Given the description of an element on the screen output the (x, y) to click on. 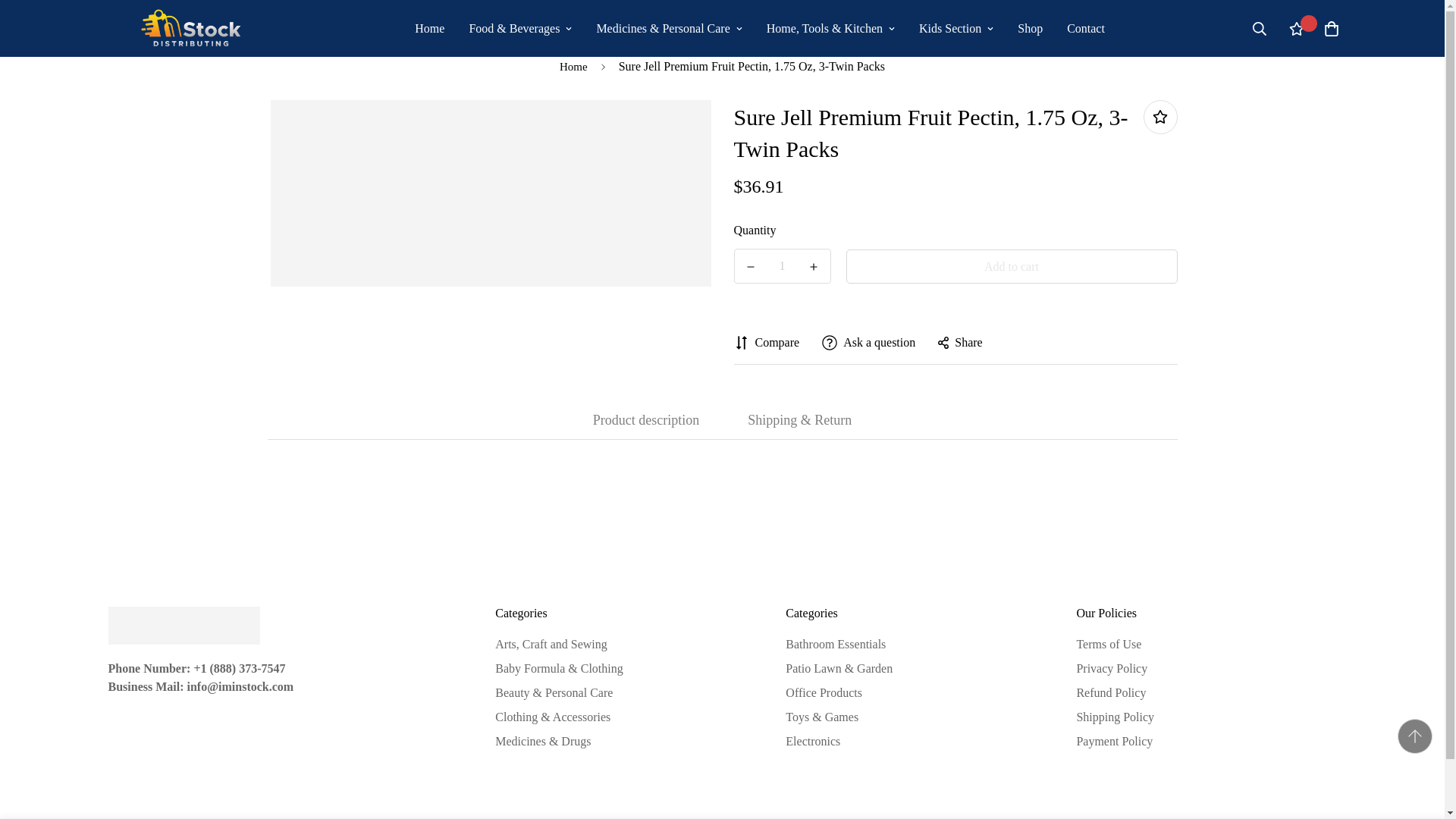
Instock Distributing (191, 28)
Shop (1030, 28)
1 (782, 265)
Contact (1085, 28)
Home (430, 28)
Kids Section (956, 28)
Back to the home page (573, 66)
